Given the description of an element on the screen output the (x, y) to click on. 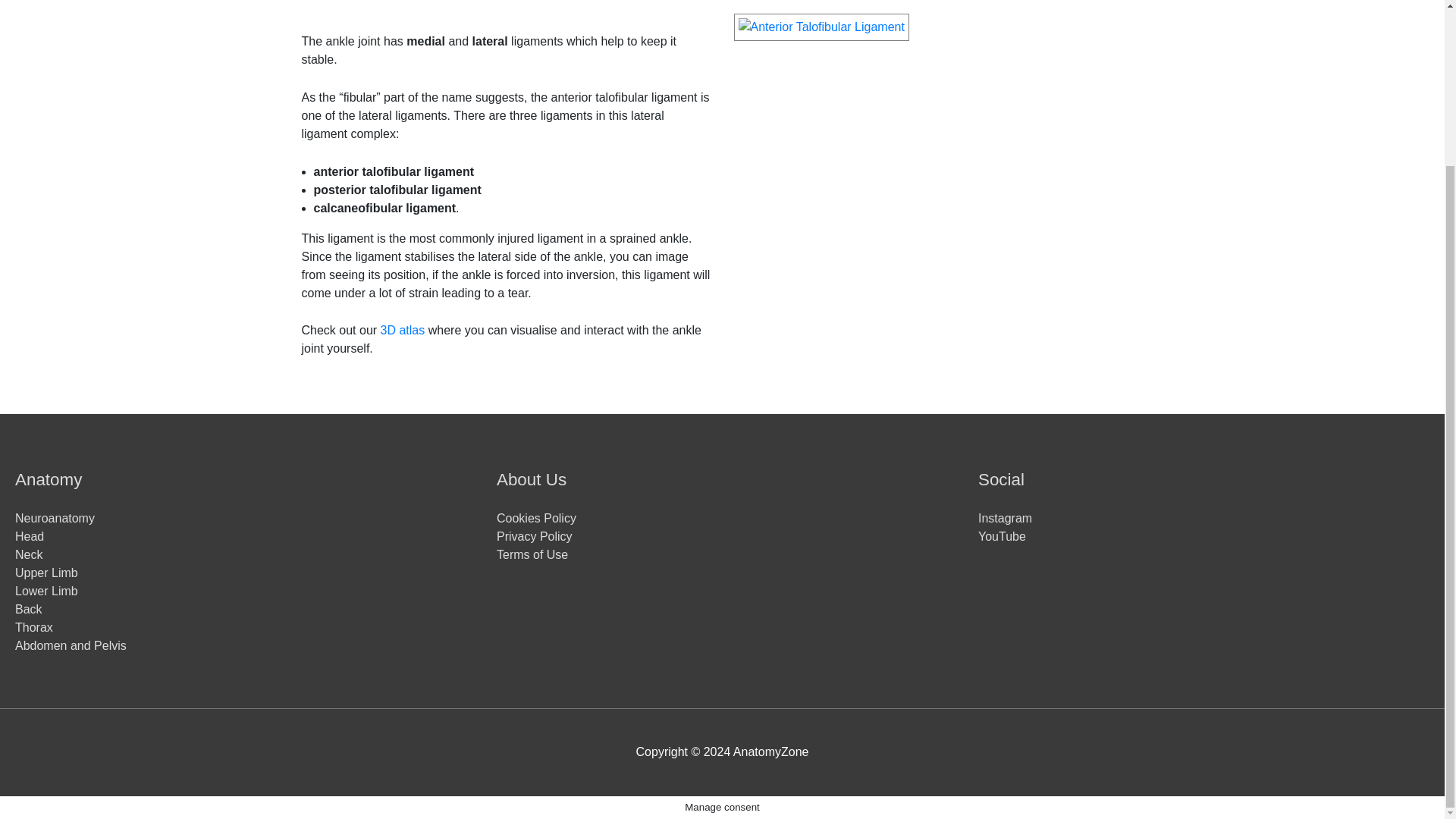
Neck (28, 554)
Cookies Policy (536, 517)
Upper Limb (46, 572)
Terms of Use (531, 554)
Instagram (1005, 517)
3D atlas (402, 329)
Head (28, 535)
Neuroanatomy (54, 517)
Abdomen and Pelvis (70, 645)
Thorax (33, 626)
